Given the description of an element on the screen output the (x, y) to click on. 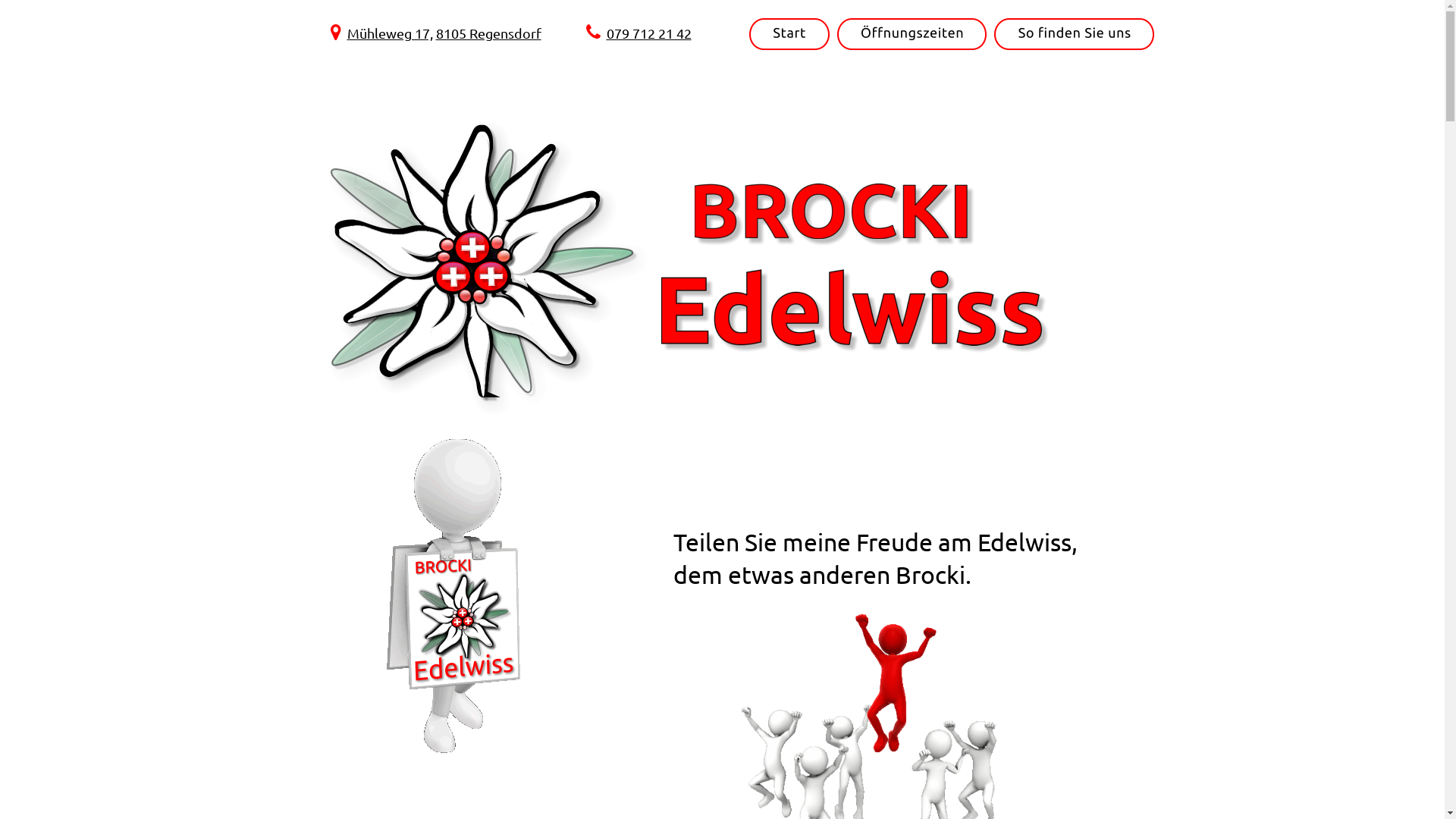
8105 Regensdorf Element type: text (487, 32)
  Element type: text (433, 32)
079 712 21 42 Element type: text (648, 32)
